Given the description of an element on the screen output the (x, y) to click on. 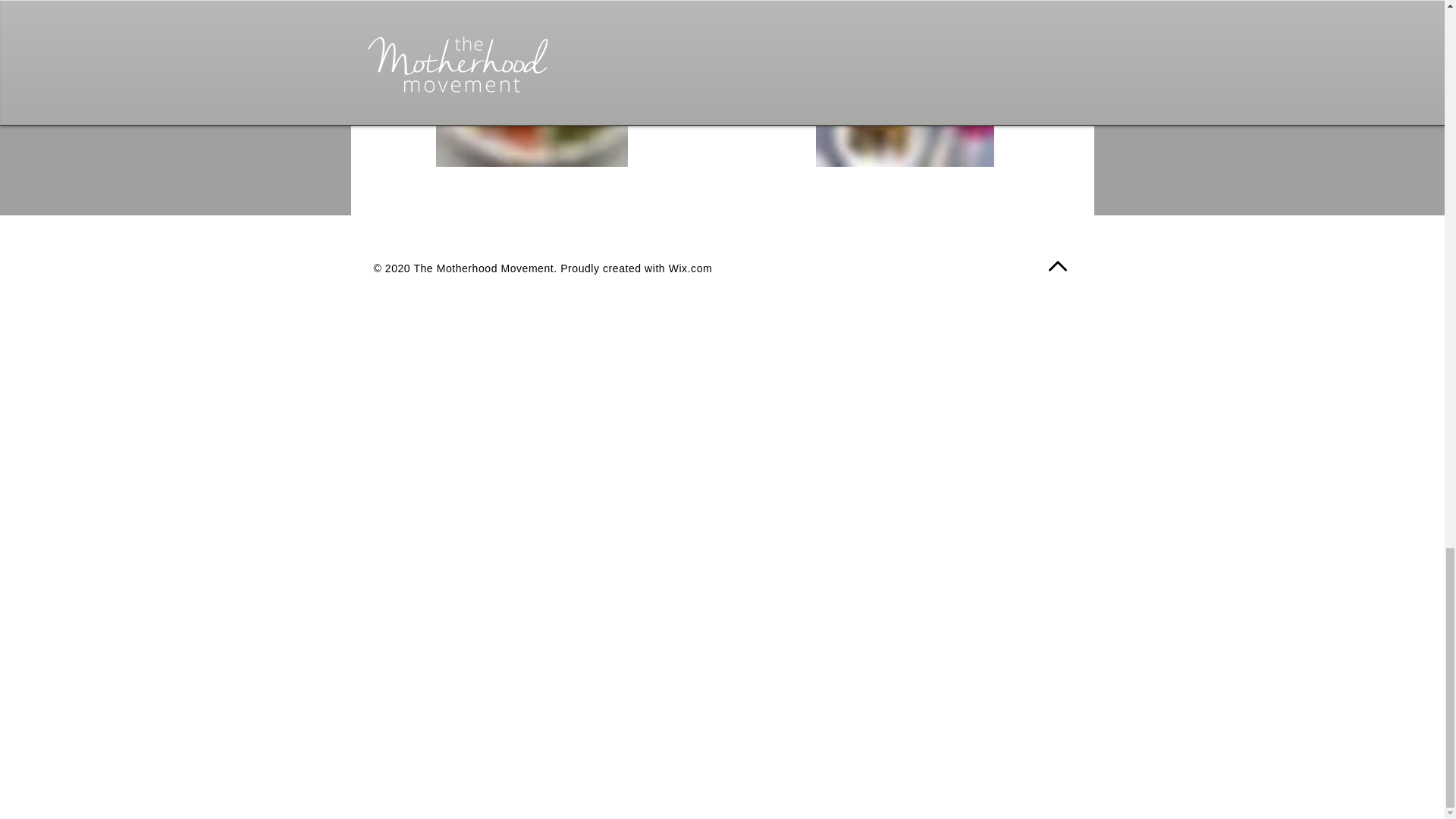
Wix.com (690, 268)
